Given the description of an element on the screen output the (x, y) to click on. 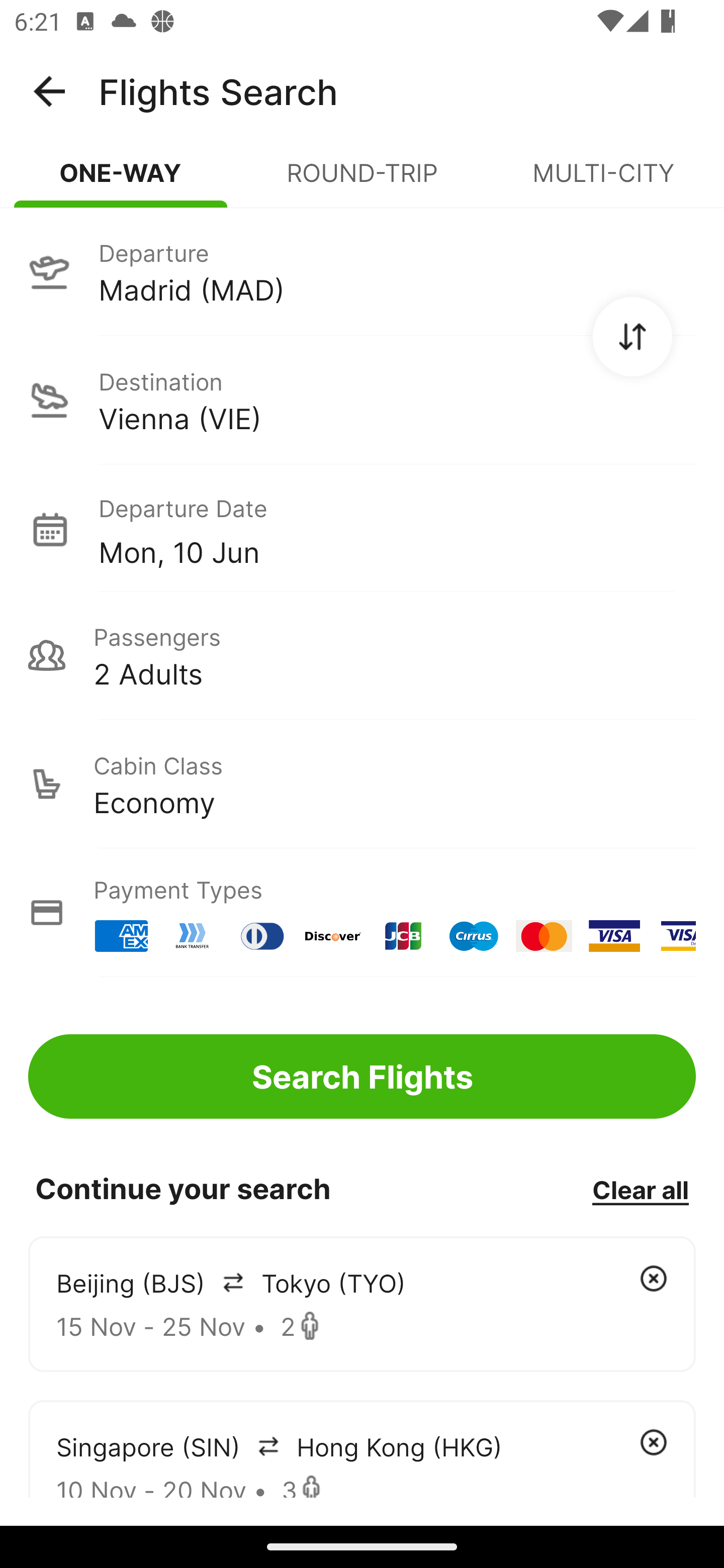
ONE-WAY (120, 180)
ROUND-TRIP (361, 180)
MULTI-CITY (603, 180)
Departure Madrid (MAD) (362, 270)
Destination Vienna (VIE) (362, 400)
Departure Date Mon, 10 Jun (396, 528)
Passengers 2 Adults (362, 655)
Cabin Class Economy (362, 783)
Payment Types (362, 912)
Search Flights (361, 1075)
Clear all (640, 1189)
